Given the description of an element on the screen output the (x, y) to click on. 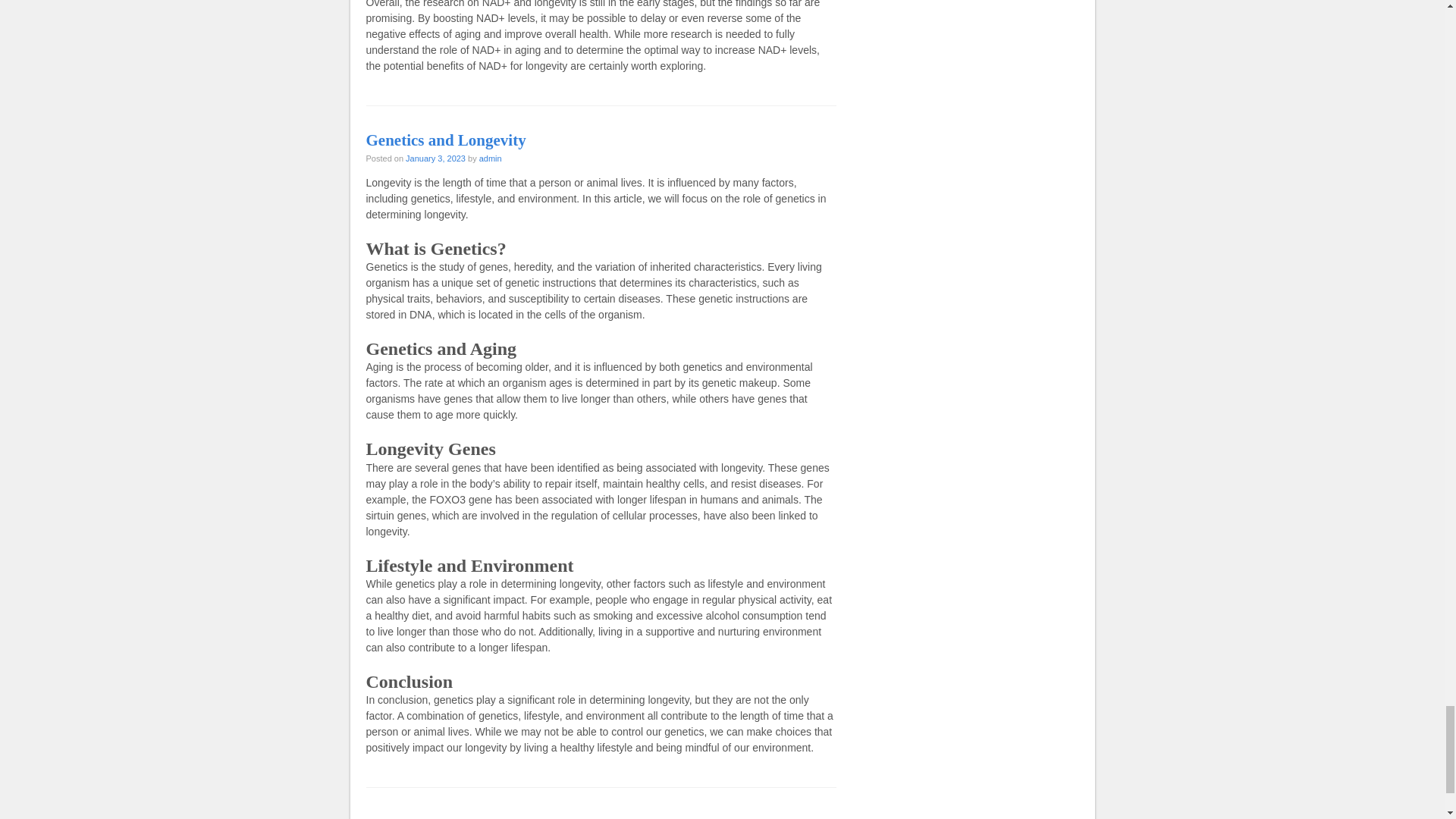
January 3, 2023 (435, 157)
Genetics and Longevity (445, 140)
admin (490, 157)
